Given the description of an element on the screen output the (x, y) to click on. 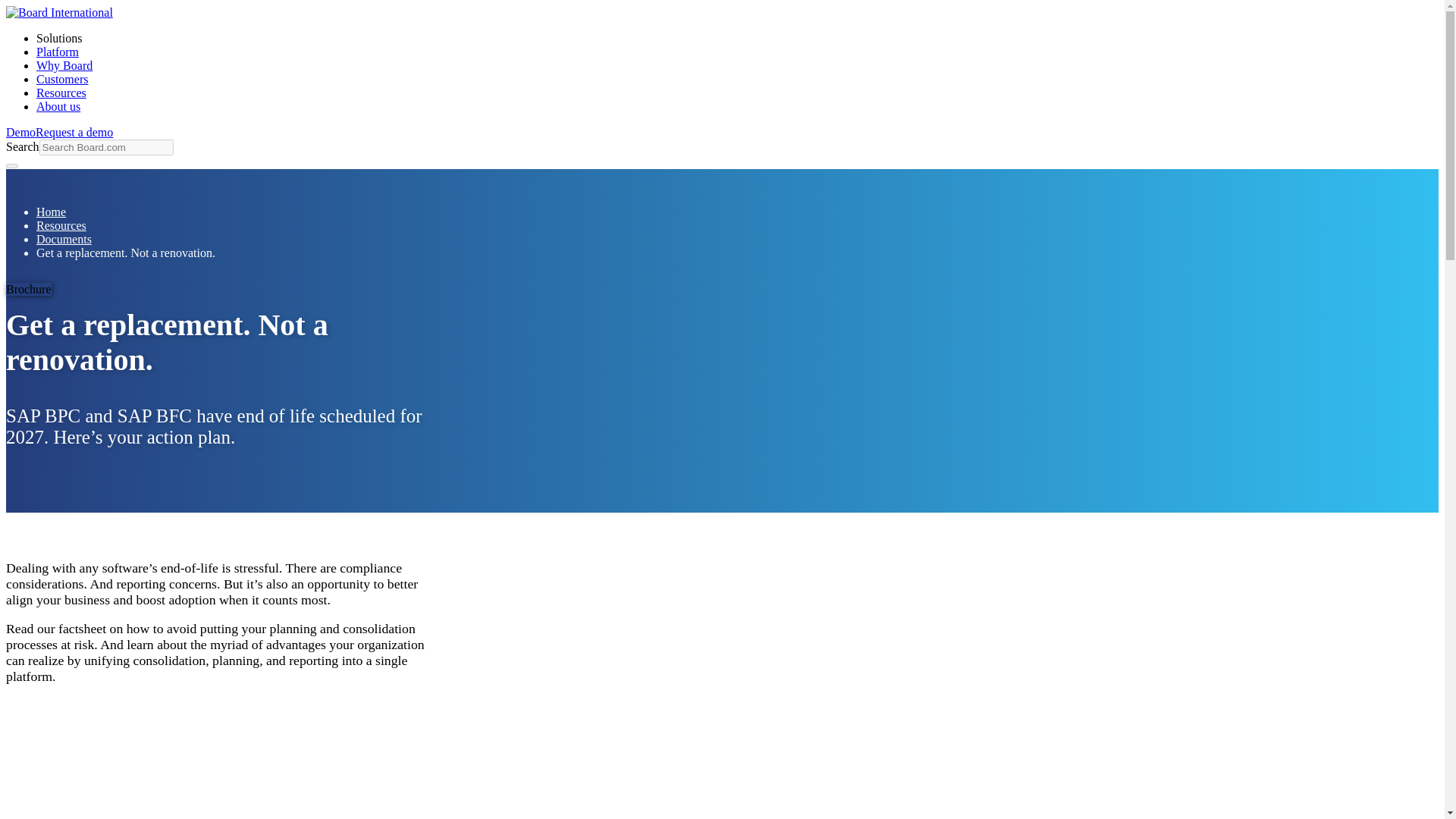
Resources (60, 92)
Platform (57, 51)
Board International (59, 12)
Customers (61, 78)
Why Board (64, 65)
Solutions (58, 38)
